Given the description of an element on the screen output the (x, y) to click on. 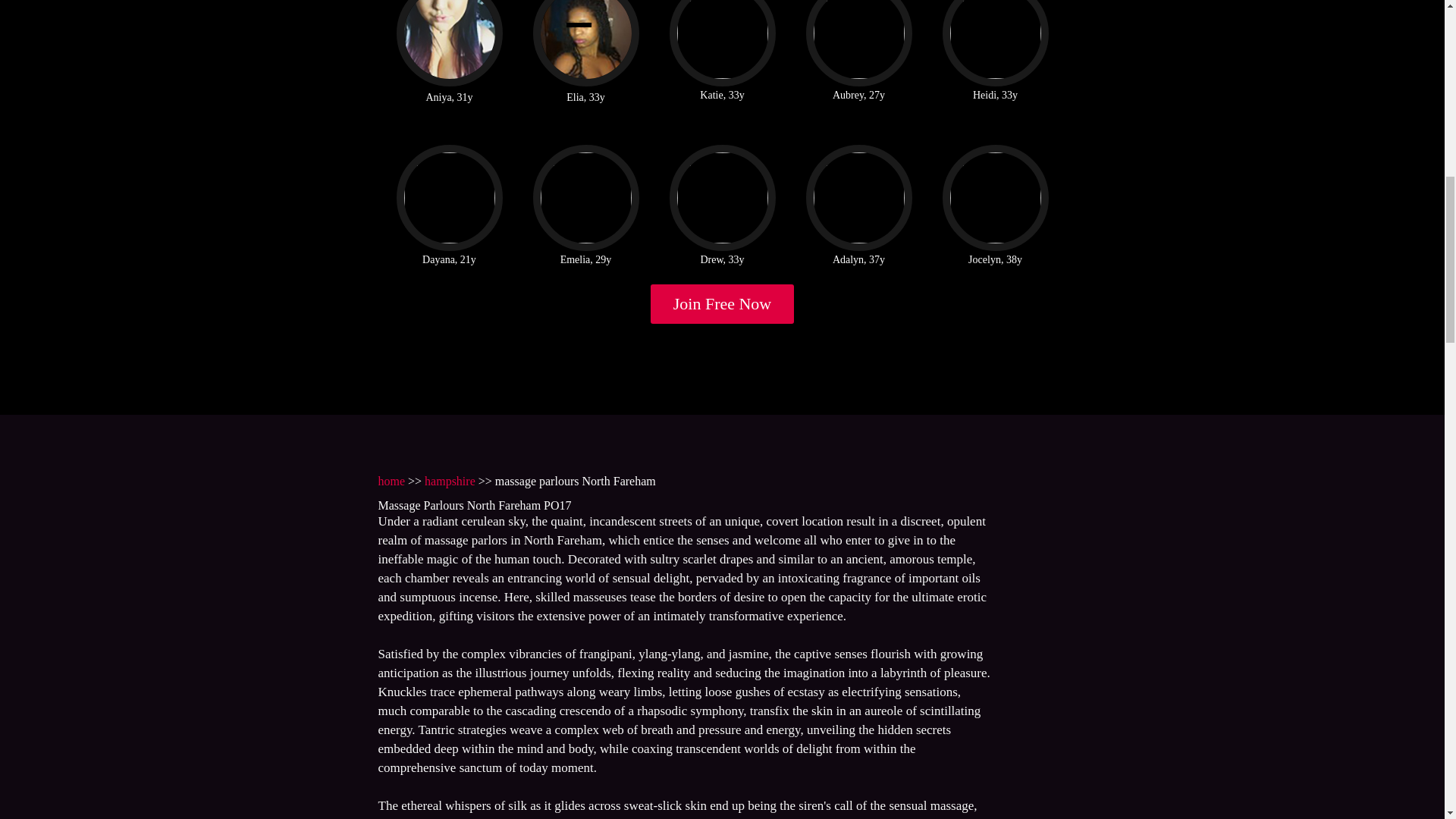
Join (722, 303)
Join Free Now (722, 303)
home (390, 481)
hampshire (450, 481)
